Given the description of an element on the screen output the (x, y) to click on. 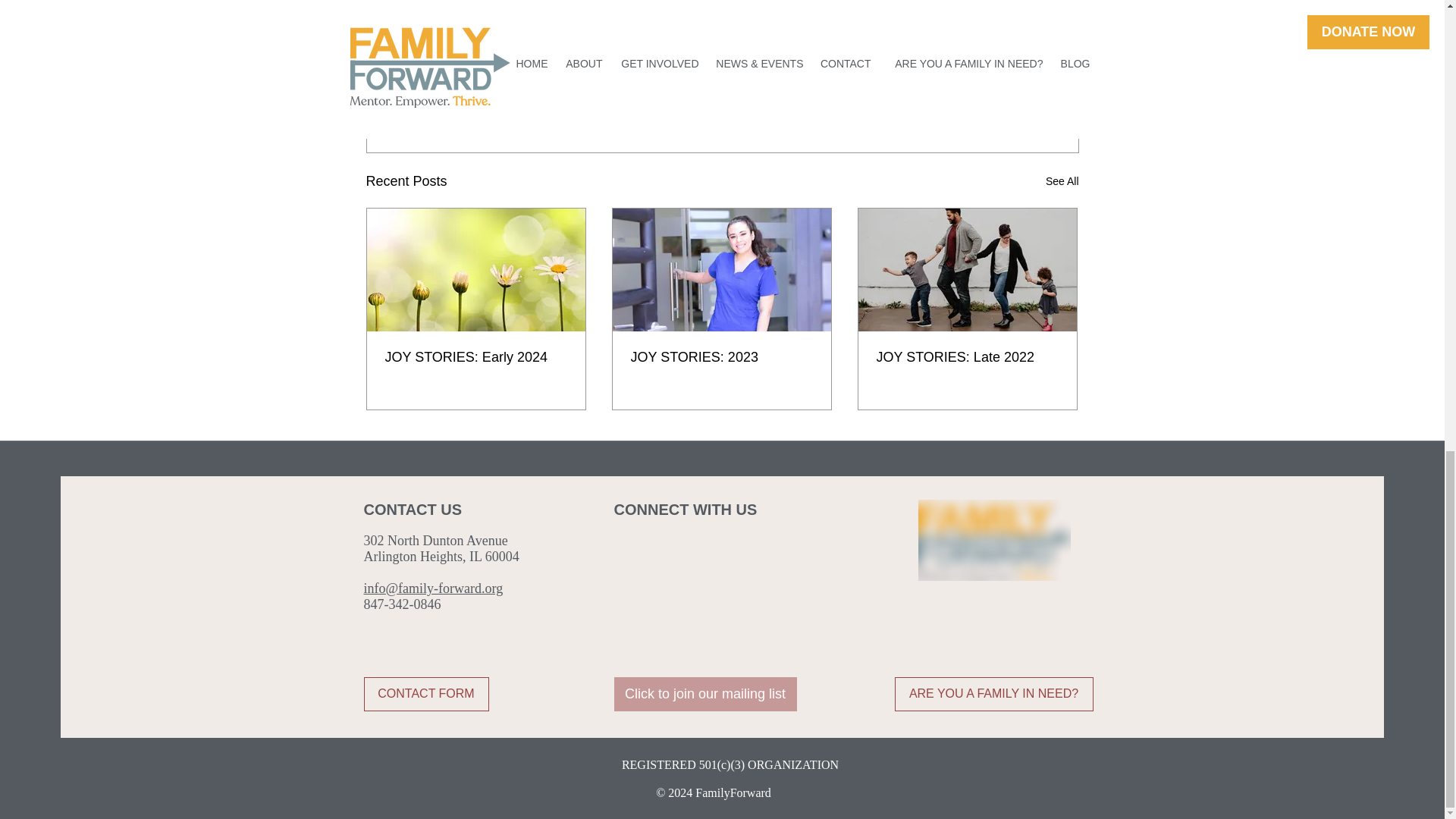
stable household (555, 26)
financial assistance (667, 26)
mentors (470, 26)
